Given the description of an element on the screen output the (x, y) to click on. 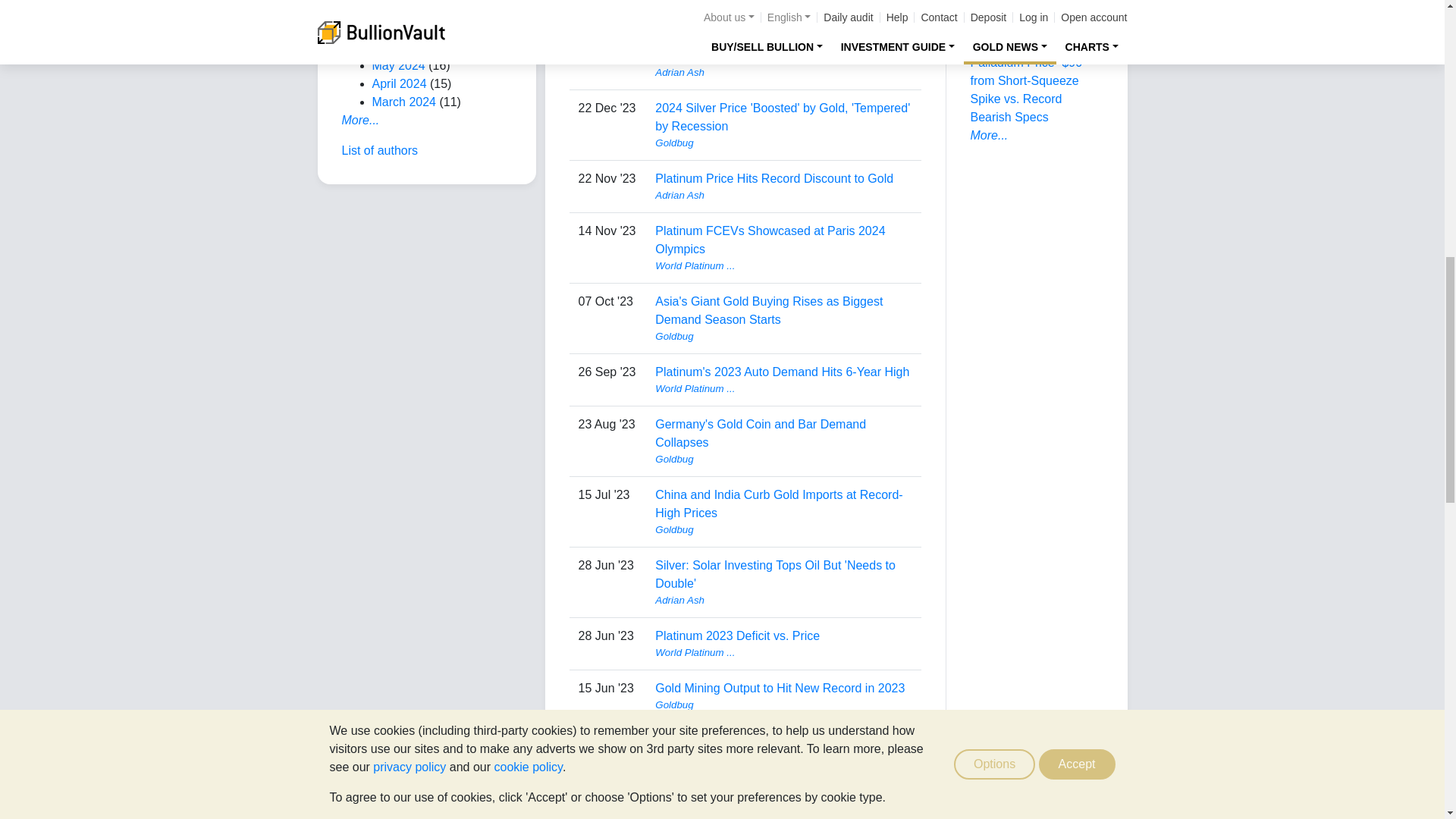
View user profile. (783, 72)
View user profile. (783, 4)
View user profile. (783, 265)
View user profile. (783, 142)
View user profile. (783, 195)
